Given the description of an element on the screen output the (x, y) to click on. 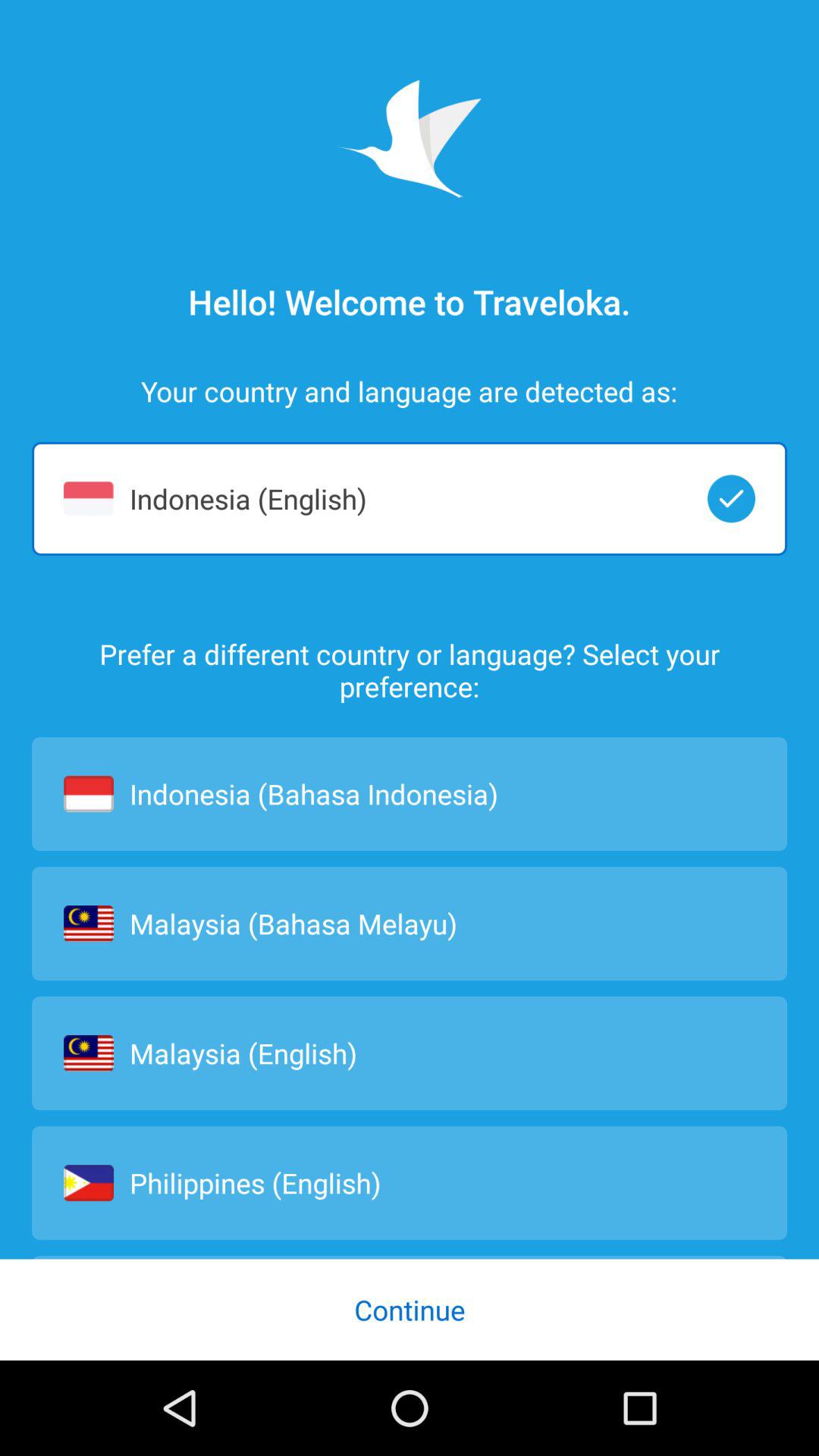
tap continue (409, 1309)
